Given the description of an element on the screen output the (x, y) to click on. 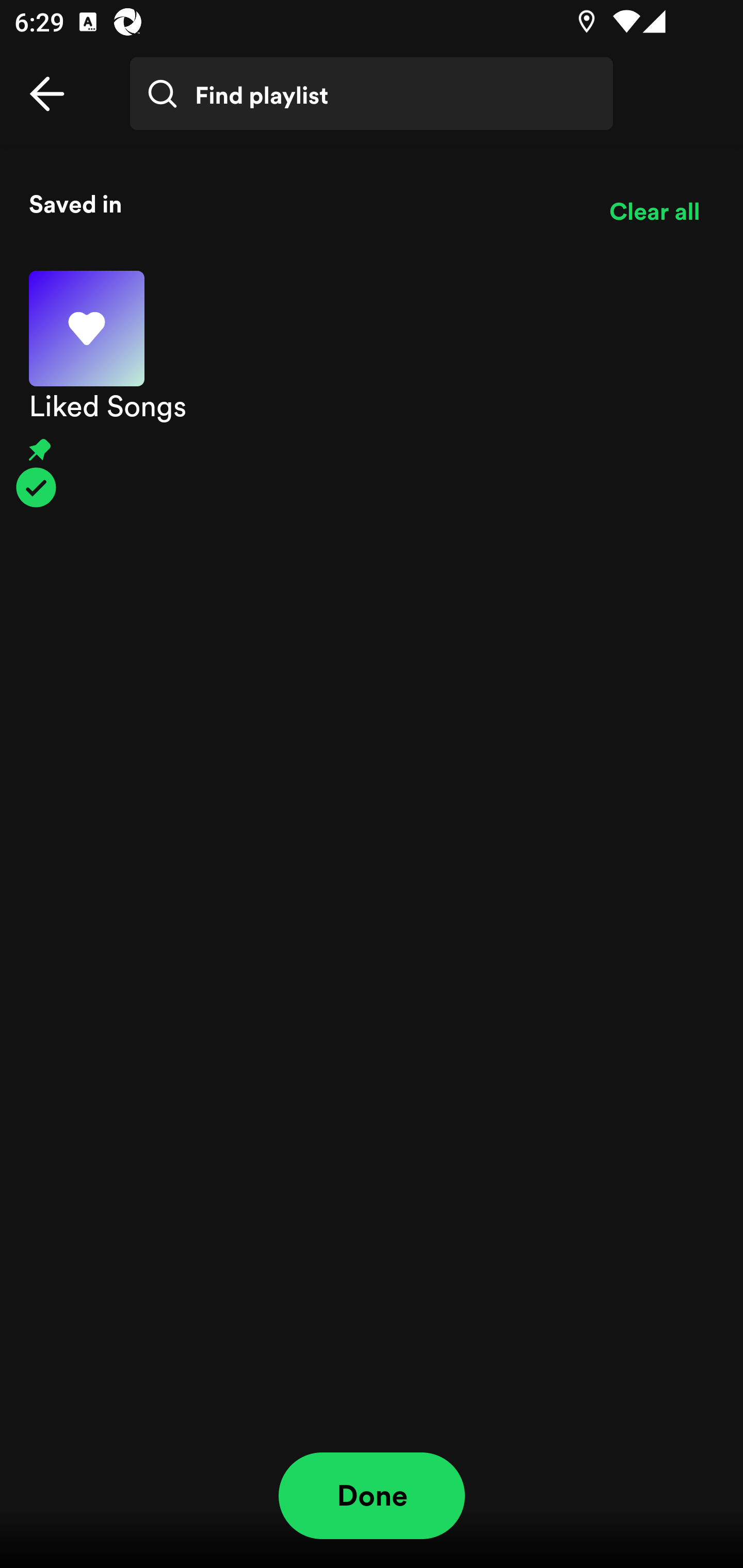
Back (46, 93)
Find playlist (371, 94)
Saved in (304, 203)
Clear all (654, 211)
Liked Songs Pinned (371, 389)
Done (371, 1495)
